Given the description of an element on the screen output the (x, y) to click on. 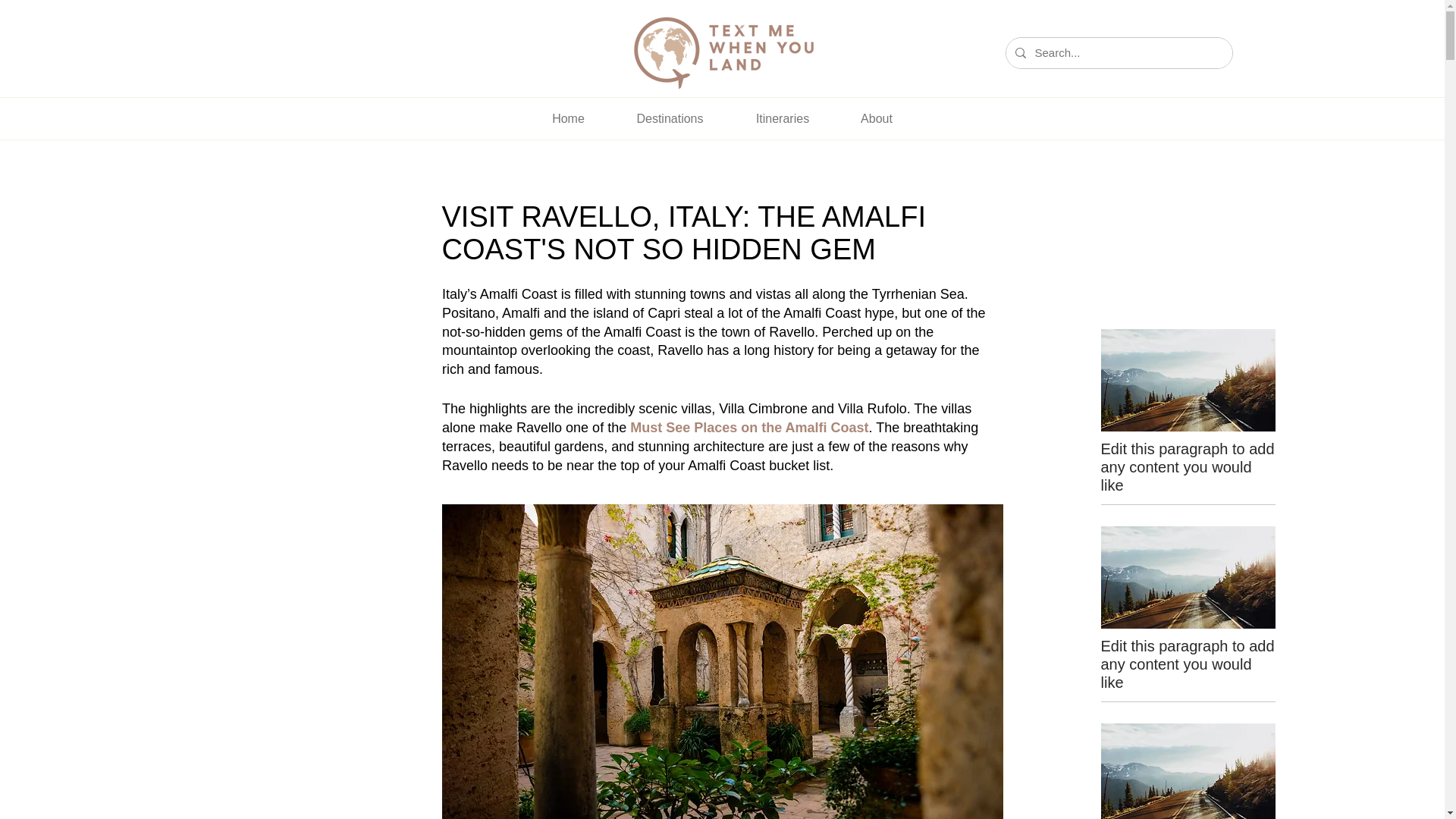
Must See Places on the Amalfi Coast (748, 427)
Home (567, 118)
Itineraries (781, 118)
About (876, 118)
Countryside Road (1187, 380)
Countryside Road (1187, 577)
Countryside Road (1187, 771)
Destinations (669, 118)
logo-04.png (721, 52)
